Given the description of an element on the screen output the (x, y) to click on. 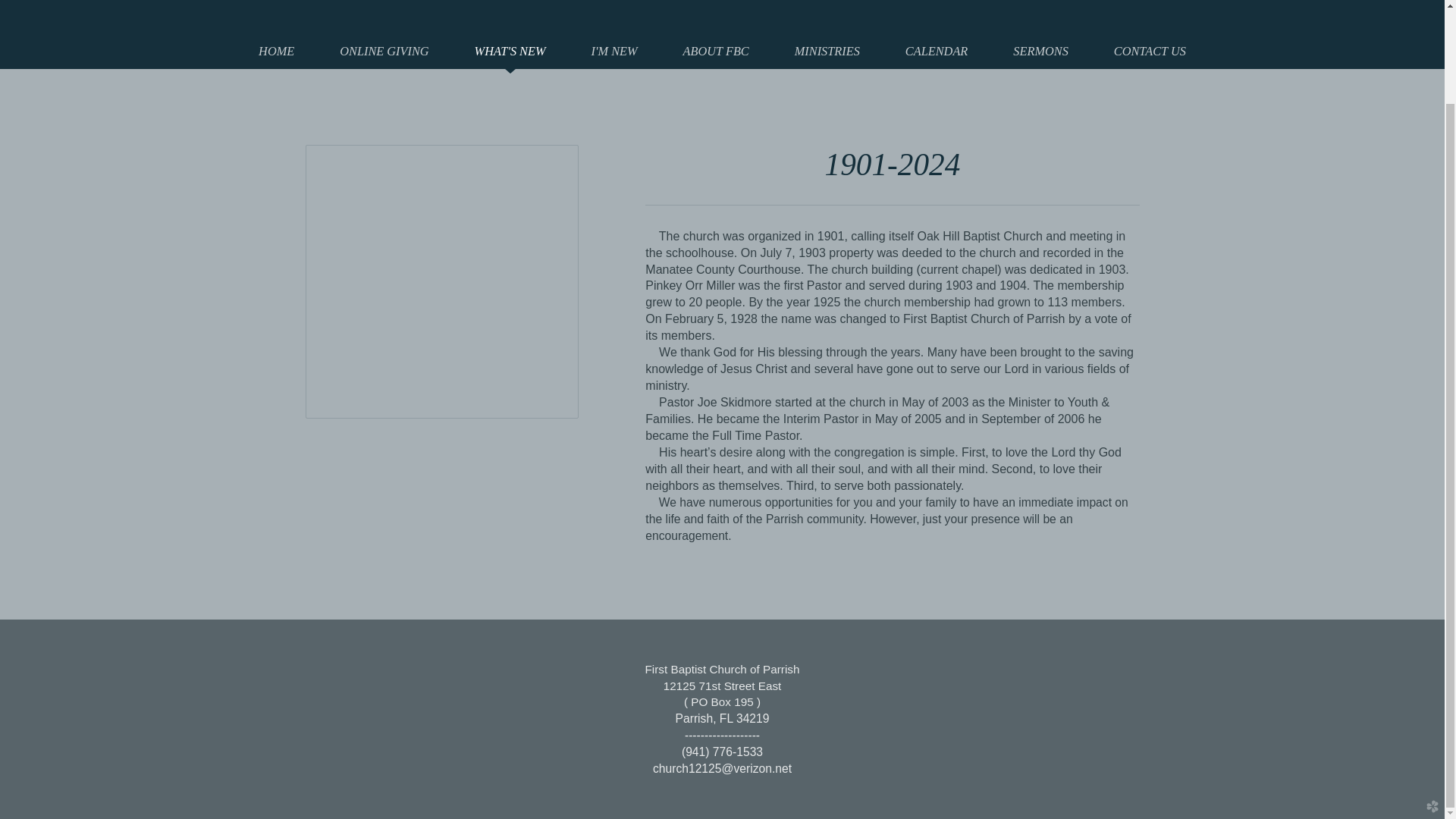
WHAT'S NEW (510, 51)
ONLINE GIVING (383, 51)
I'M NEW (614, 51)
HOME (276, 51)
ABOUT FBC (715, 51)
